Given the description of an element on the screen output the (x, y) to click on. 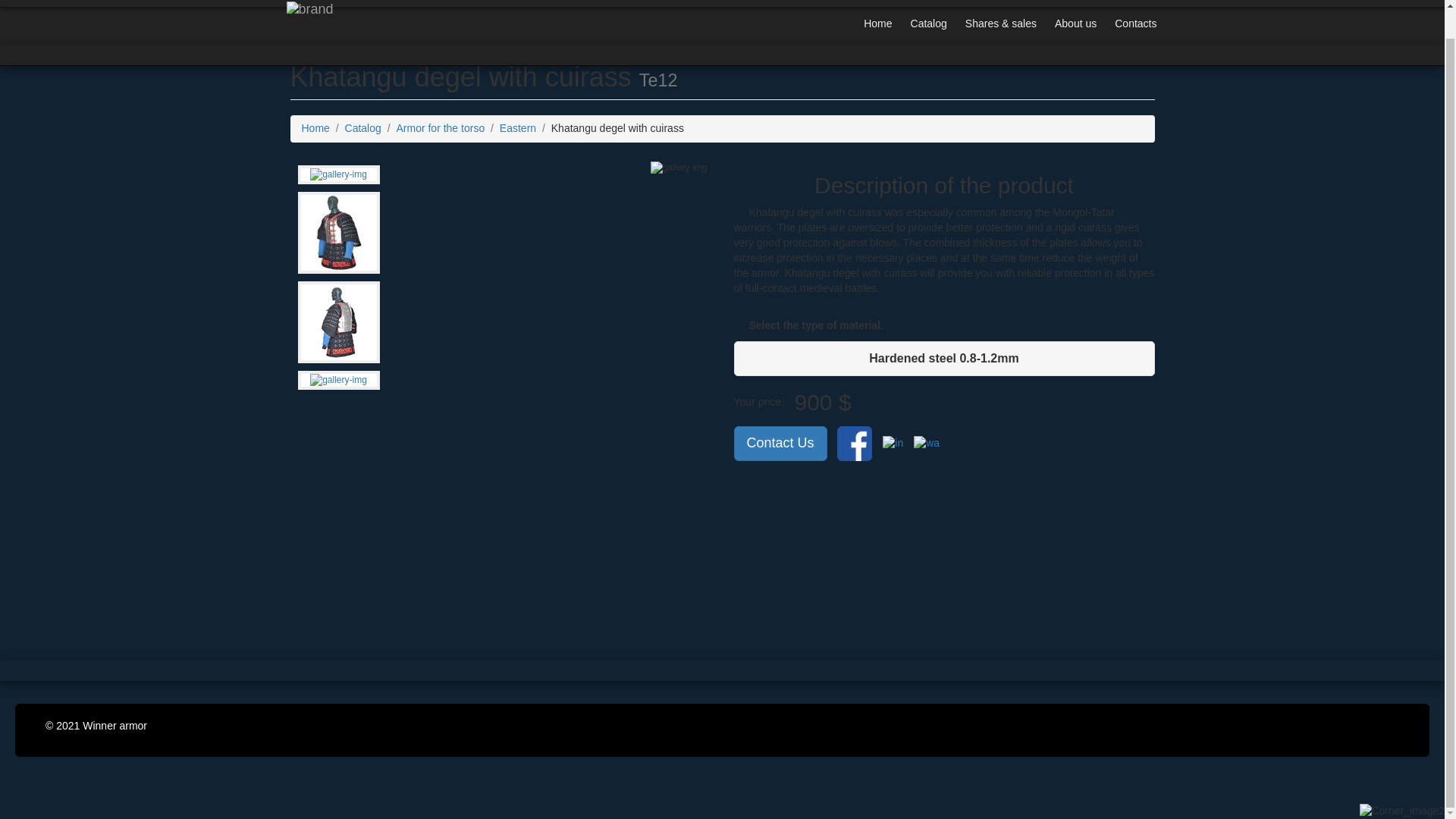
Contacts (1135, 5)
Catalog (363, 128)
Armor for the torso (440, 128)
Catalog (928, 5)
Eastern (517, 128)
Home (877, 5)
About us (1075, 5)
Contact Us (780, 443)
Home (315, 128)
